Given the description of an element on the screen output the (x, y) to click on. 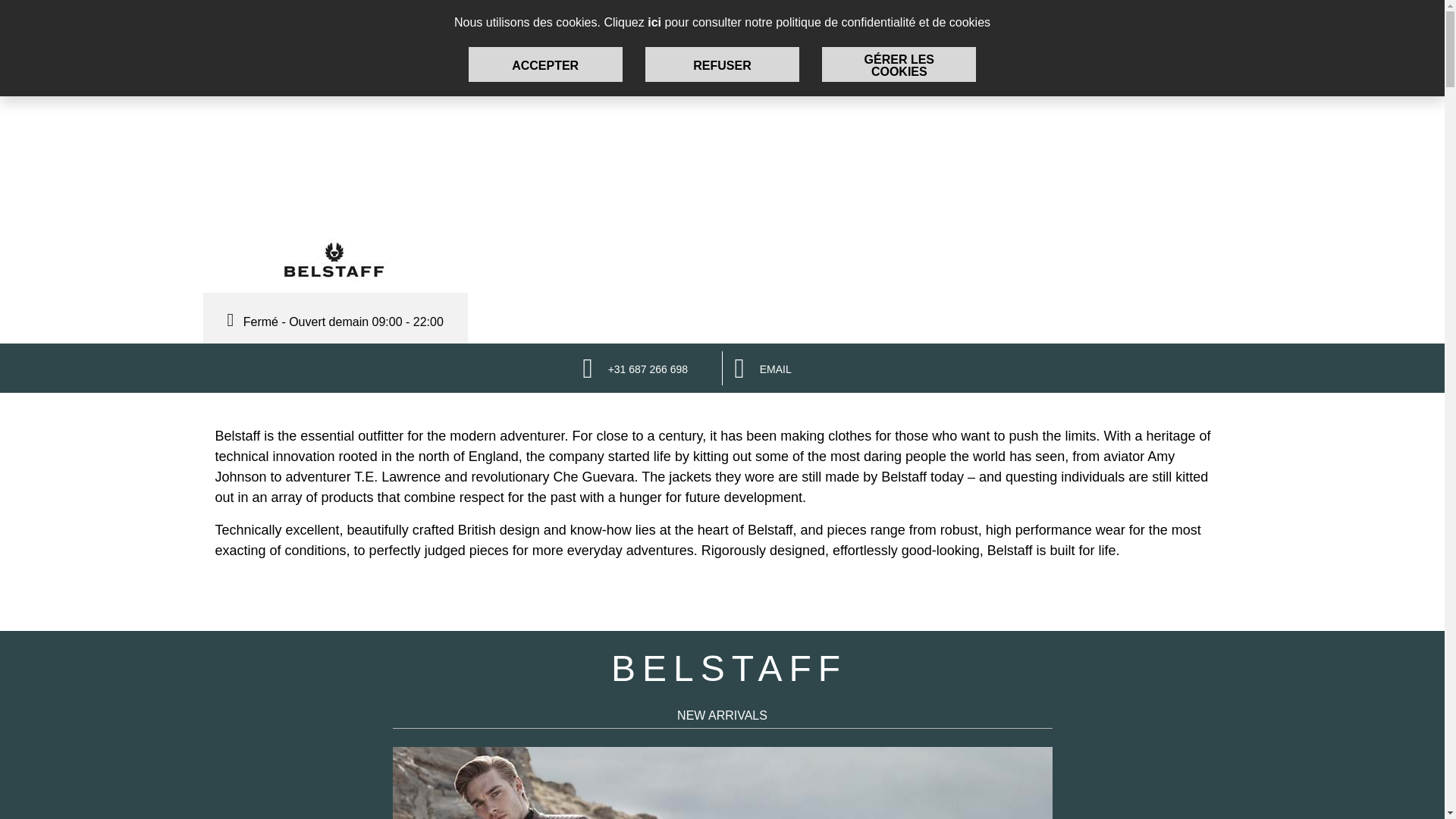
Boutiques (566, 27)
Nous rendre visite (678, 27)
McArthurGlen Club (1074, 27)
Restaurants (954, 27)
Offres (779, 27)
